Given the description of an element on the screen output the (x, y) to click on. 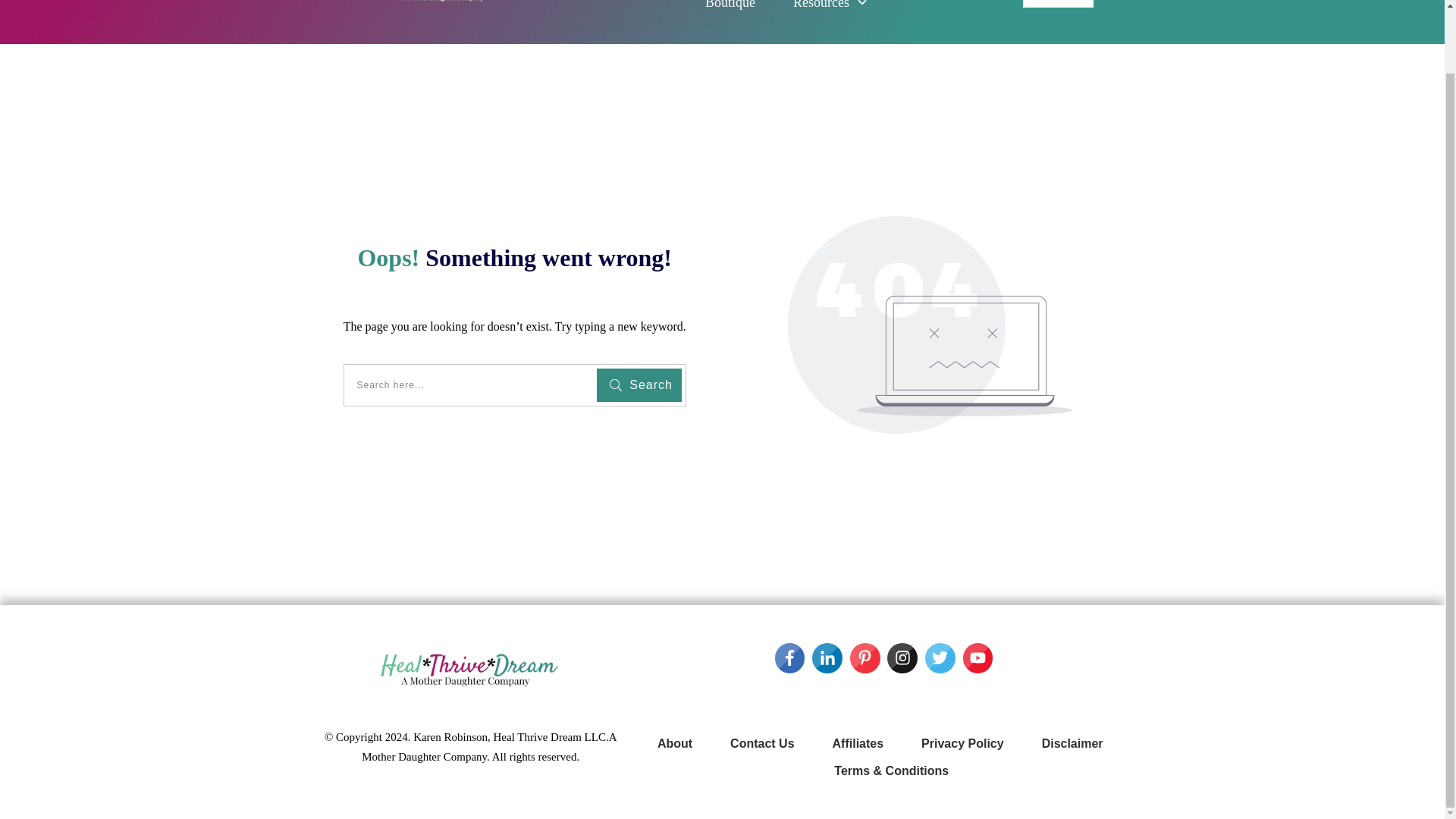
About (675, 743)
Resources (831, 7)
Contact Us (761, 743)
Boutique (729, 7)
Affiliates (857, 743)
Disclaimer (1072, 743)
404 (929, 324)
Privacy Policy (962, 743)
Work with Karen (1058, 3)
Search (638, 385)
